Given the description of an element on the screen output the (x, y) to click on. 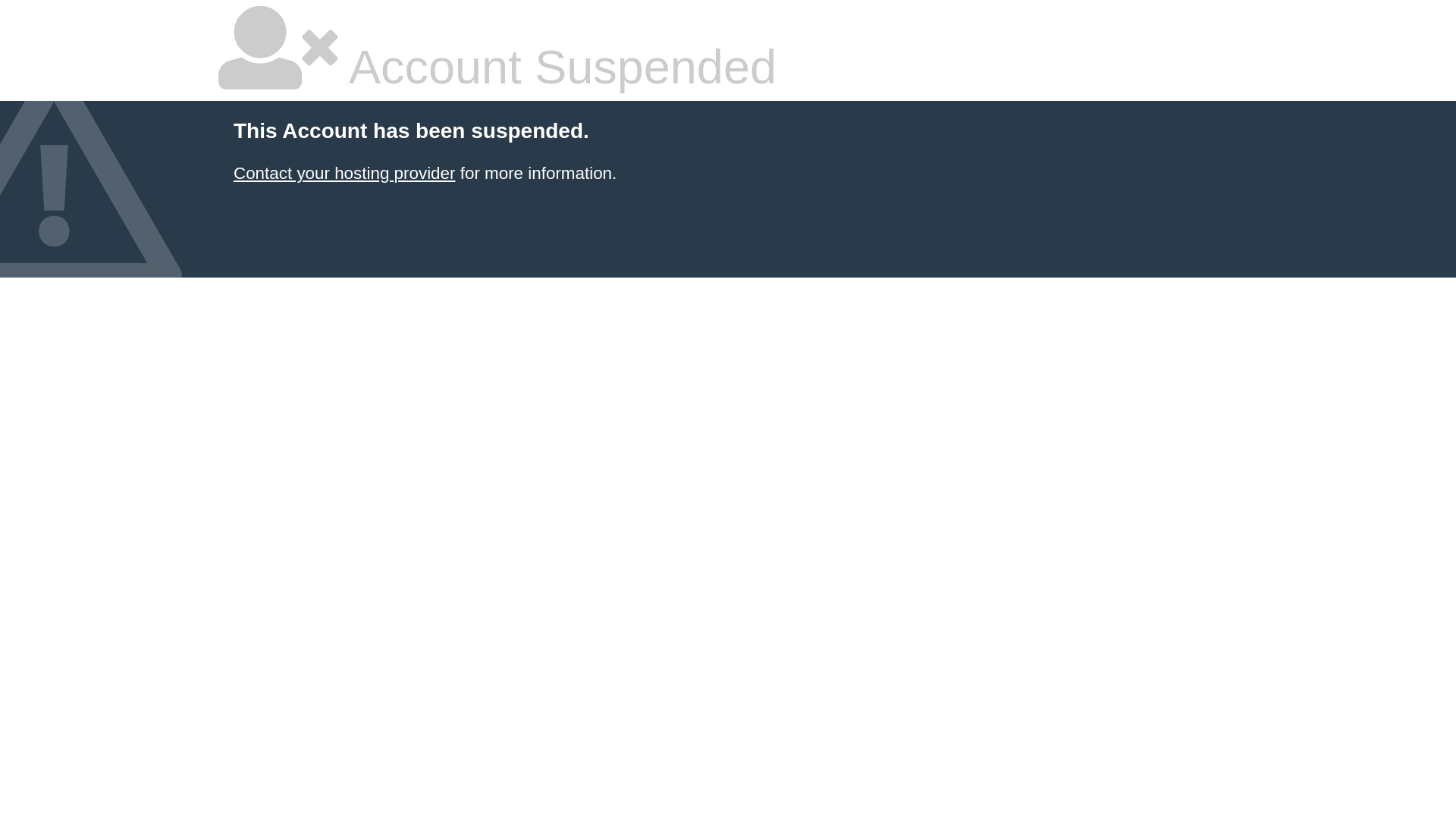
Contact your hosting provider Element type: text (344, 172)
